Given the description of an element on the screen output the (x, y) to click on. 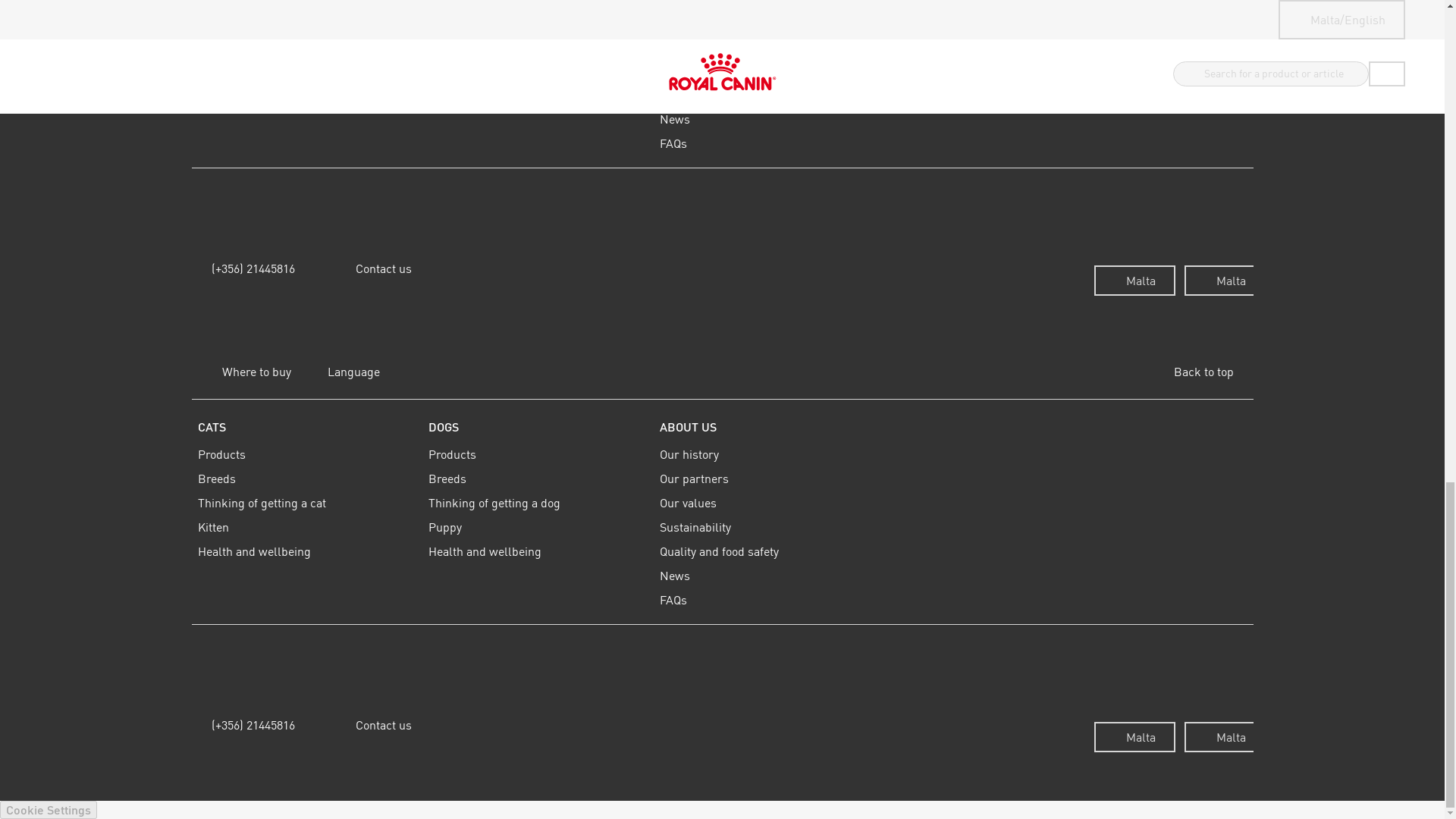
Products (306, 4)
Breeds (306, 21)
